Given the description of an element on the screen output the (x, y) to click on. 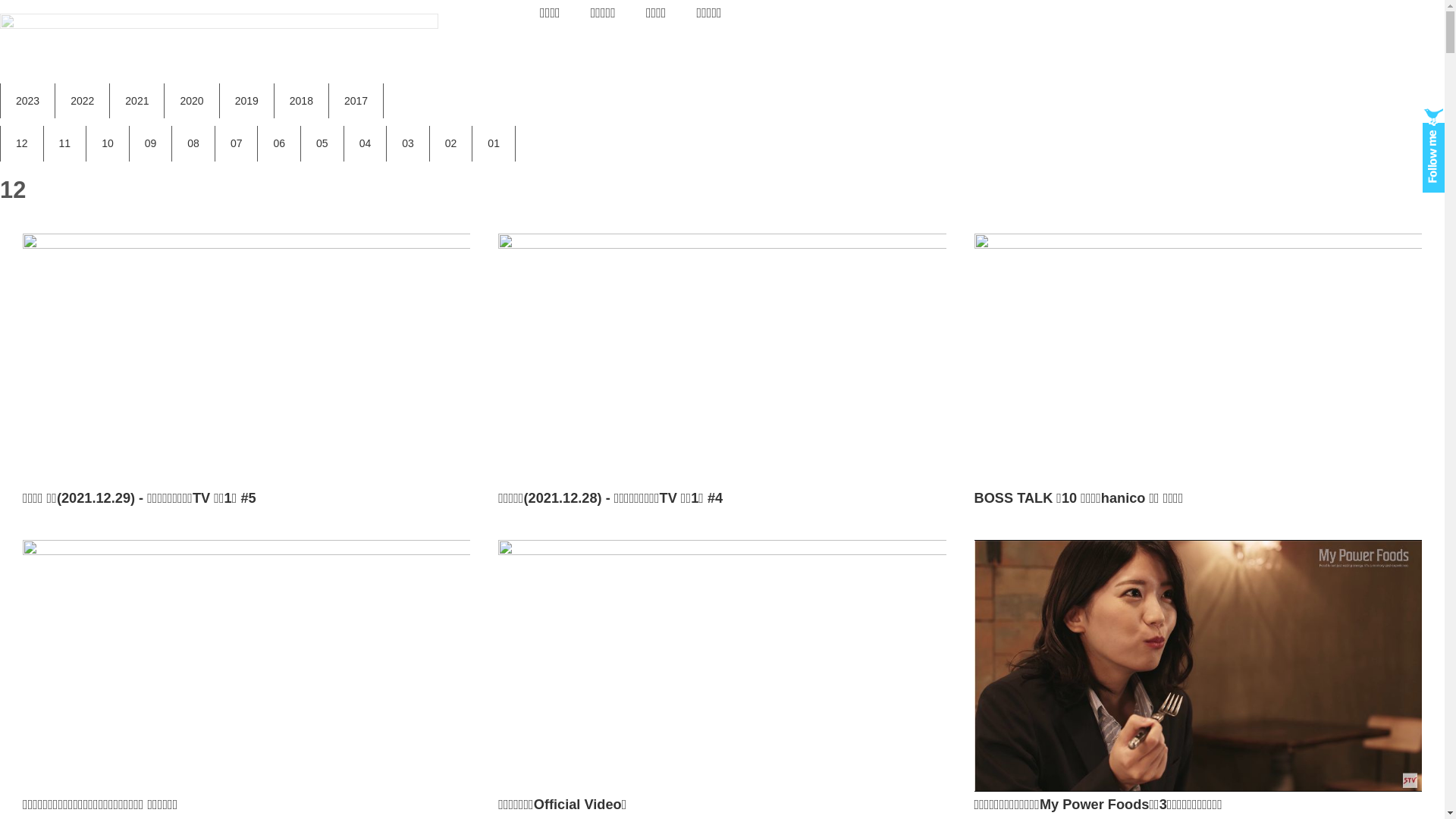
2020 Element type: text (191, 101)
04 Element type: text (365, 143)
2019 Element type: text (246, 101)
2018 Element type: text (301, 101)
10 Element type: text (107, 143)
2022 Element type: text (82, 101)
2017 Element type: text (355, 101)
03 Element type: text (407, 143)
06 Element type: text (278, 143)
11 Element type: text (64, 143)
12 Element type: text (21, 143)
2023 Element type: text (27, 101)
02 Element type: text (450, 143)
01 Element type: text (493, 143)
07 Element type: text (236, 143)
2021 Element type: text (136, 101)
09 Element type: text (150, 143)
08 Element type: text (193, 143)
05 Element type: text (322, 143)
